Given the description of an element on the screen output the (x, y) to click on. 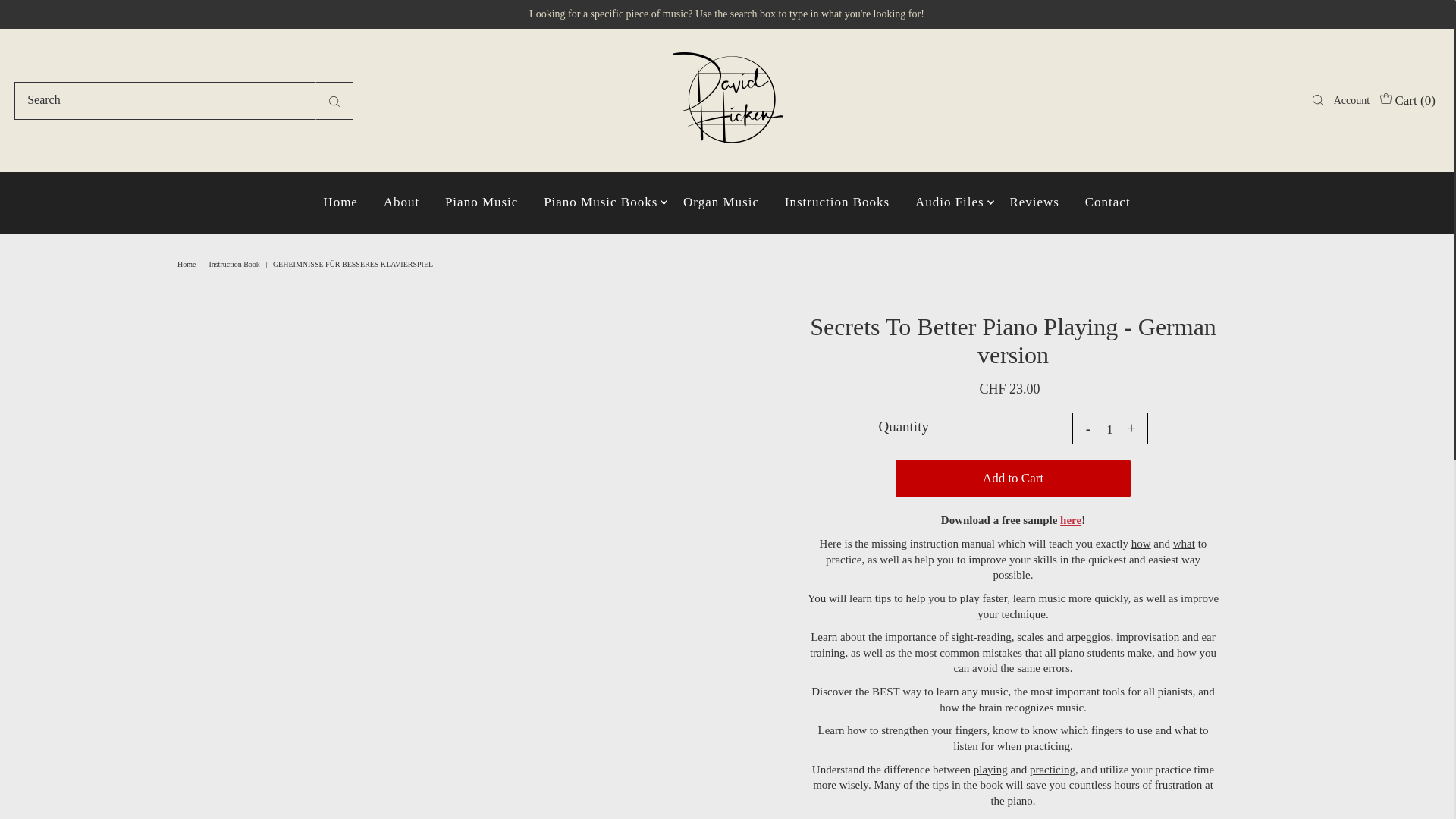
1 (1110, 429)
Home (188, 264)
Instruction Book (235, 264)
Add to Cart (1013, 478)
